Given the description of an element on the screen output the (x, y) to click on. 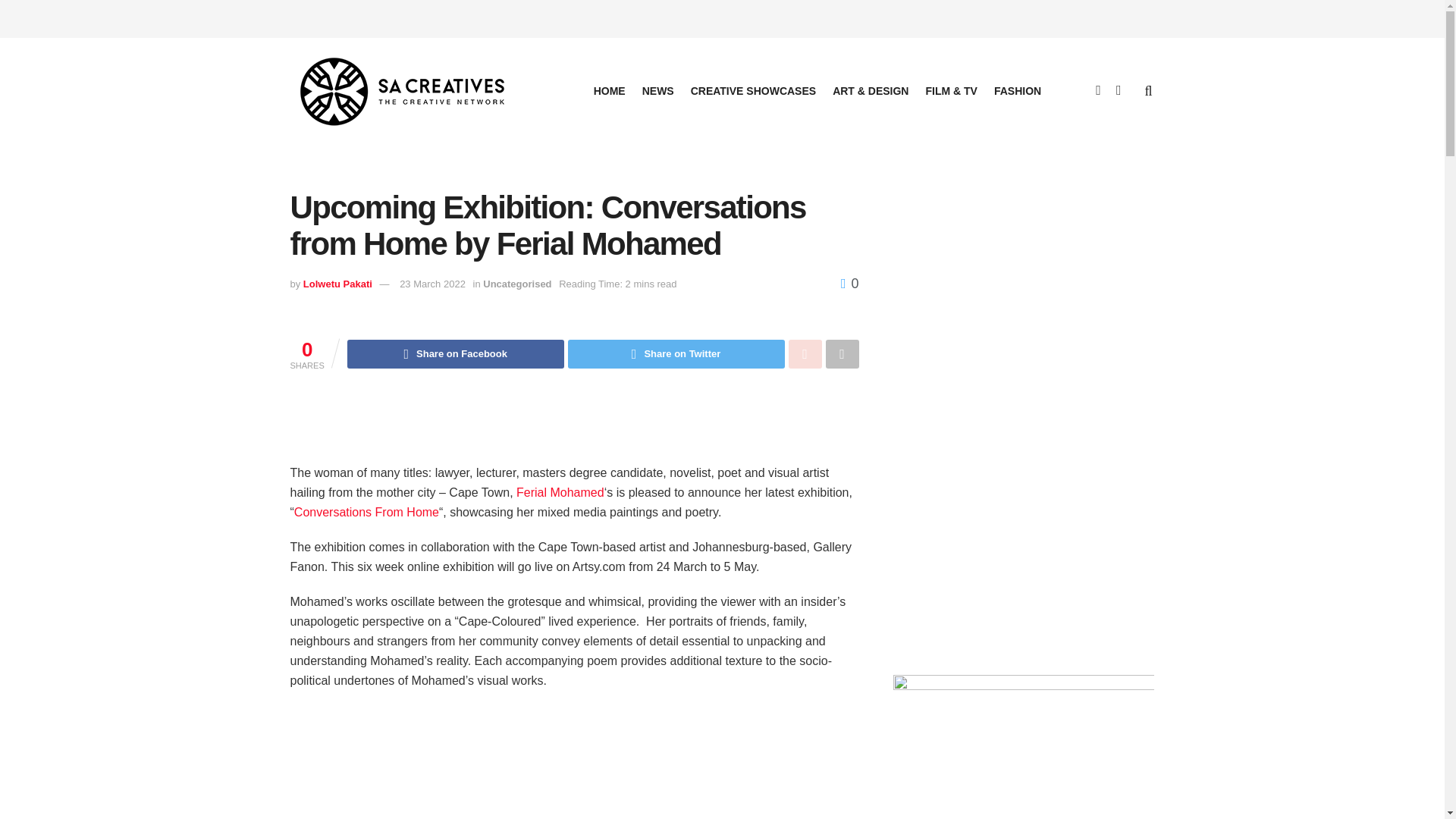
0 (850, 283)
NEWS (658, 90)
Share on Facebook (455, 353)
Conversations From Home (366, 512)
Ferial Mohamed (560, 492)
23 March 2022 (431, 283)
Share on Twitter (675, 353)
Lolwetu Pakati (337, 283)
Uncategorised (517, 283)
CREATIVE SHOWCASES (752, 90)
